Given the description of an element on the screen output the (x, y) to click on. 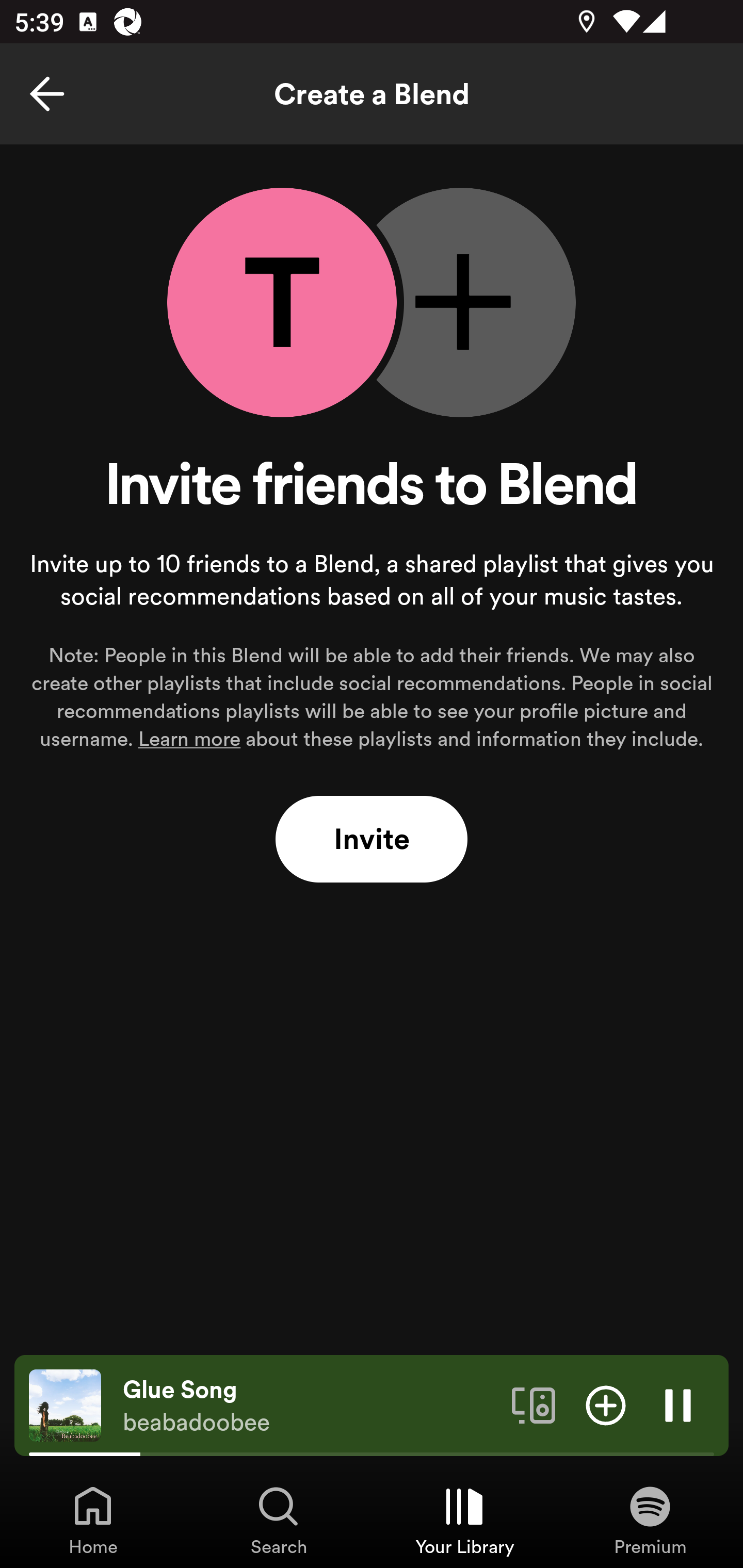
Back (46, 93)
Invite (371, 839)
Glue Song beabadoobee (309, 1405)
The cover art of the currently playing track (64, 1404)
Connect to a device. Opens the devices menu (533, 1404)
Add item (605, 1404)
Pause (677, 1404)
Home, Tab 1 of 4 Home Home (92, 1519)
Search, Tab 2 of 4 Search Search (278, 1519)
Your Library, Tab 3 of 4 Your Library Your Library (464, 1519)
Premium, Tab 4 of 4 Premium Premium (650, 1519)
